Given the description of an element on the screen output the (x, y) to click on. 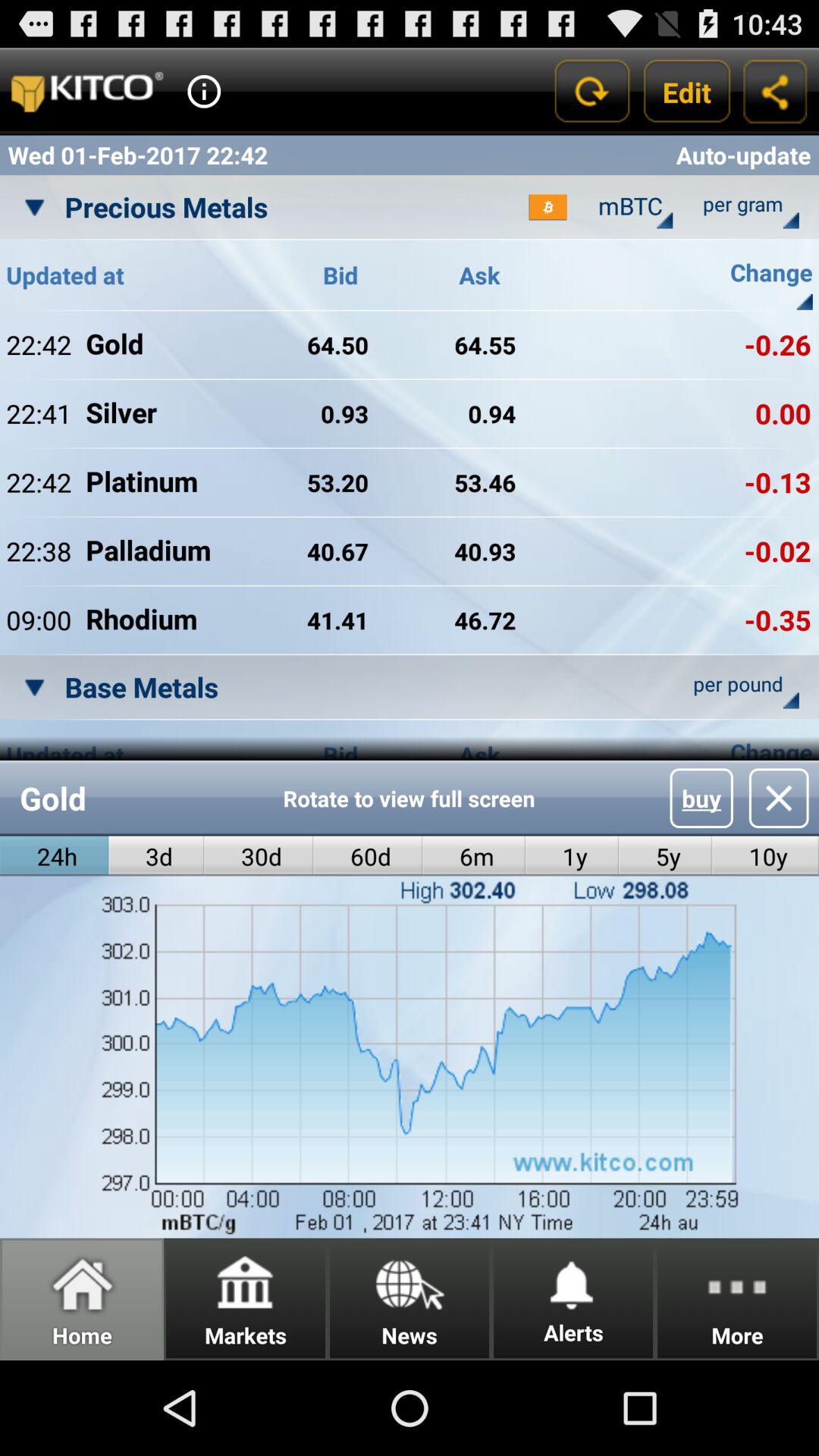
swipe to 6m icon (473, 856)
